Given the description of an element on the screen output the (x, y) to click on. 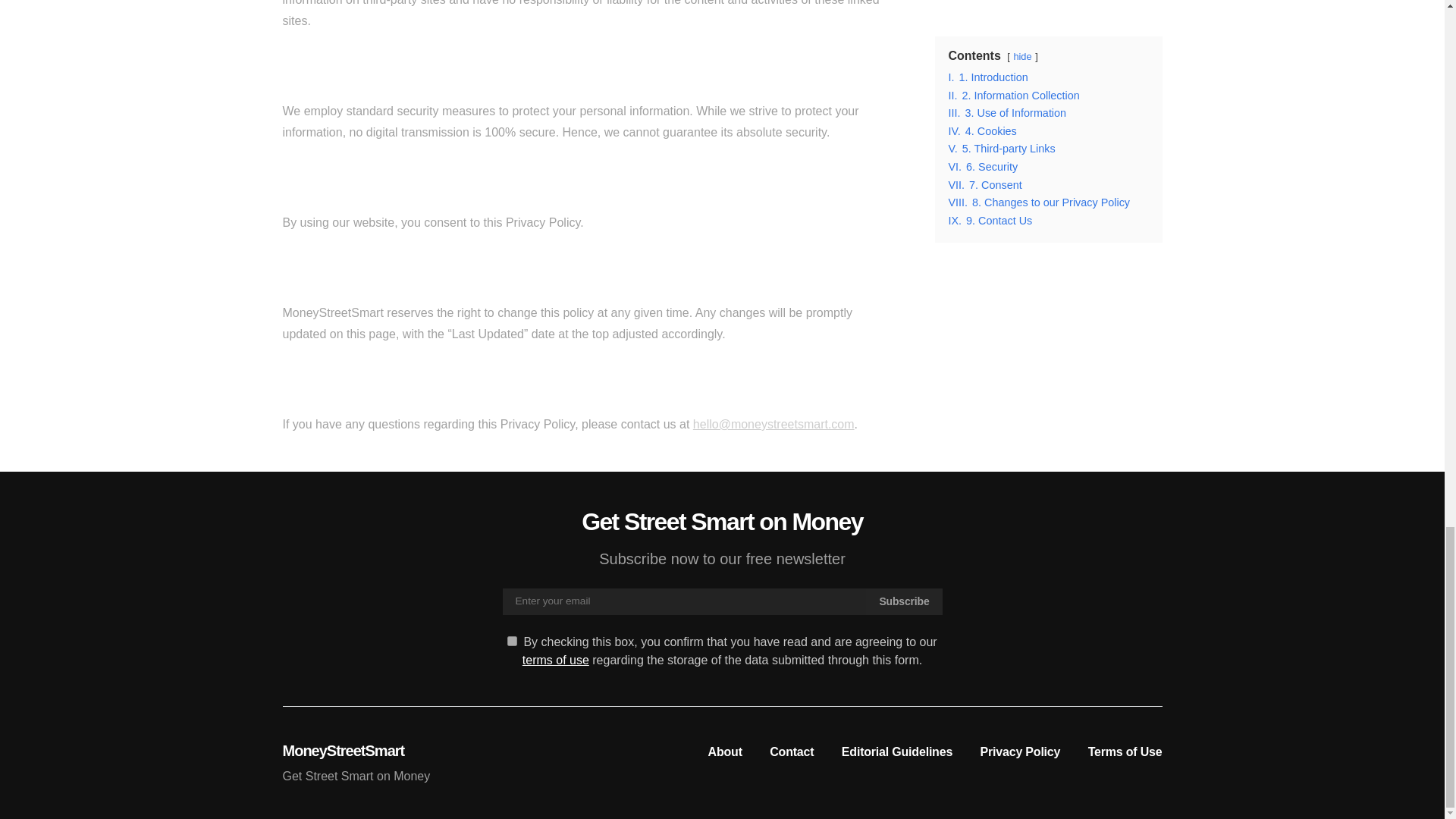
on (511, 641)
